Given the description of an element on the screen output the (x, y) to click on. 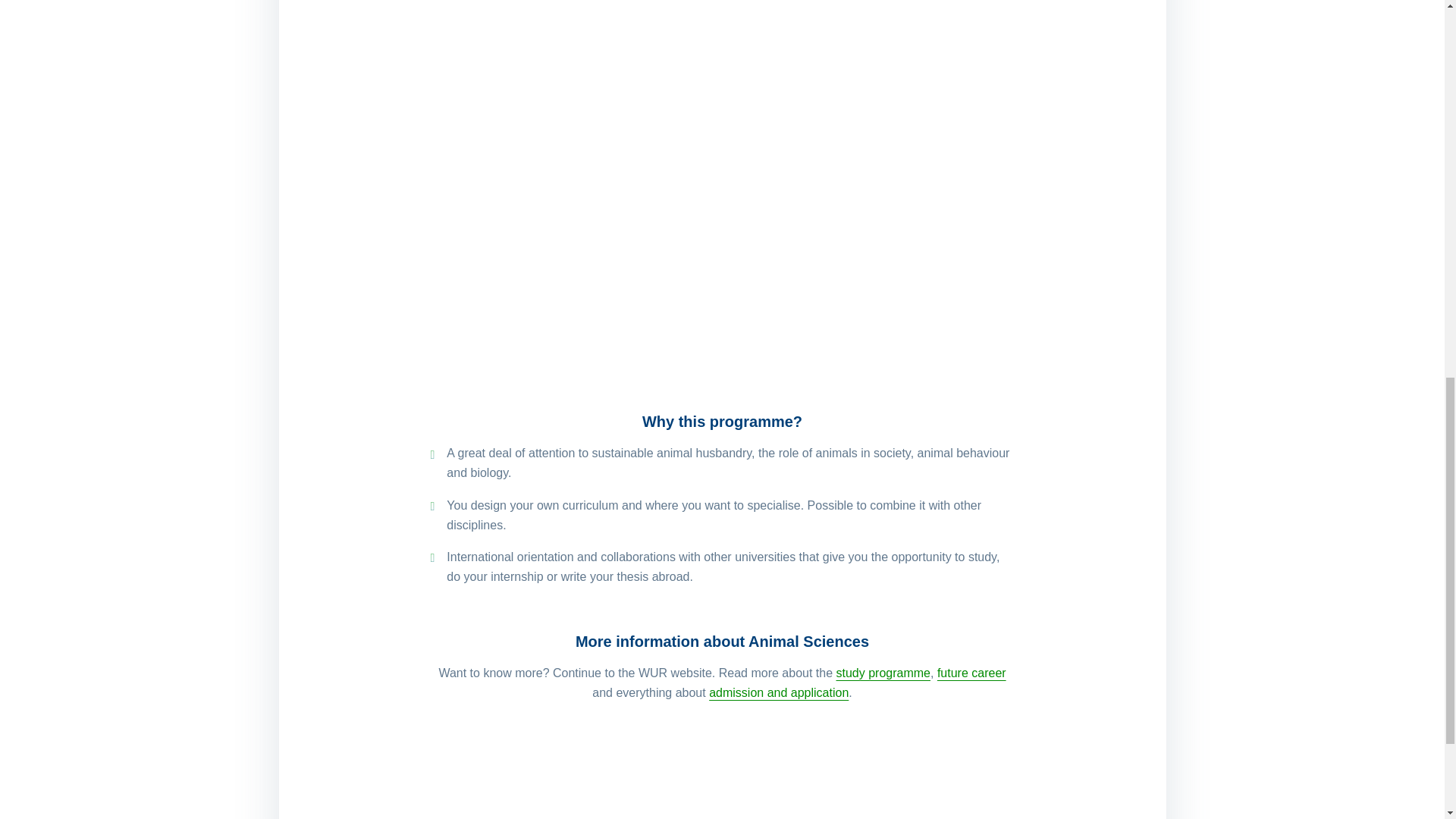
admission and application (778, 692)
study programme (882, 672)
future career (971, 672)
